Given the description of an element on the screen output the (x, y) to click on. 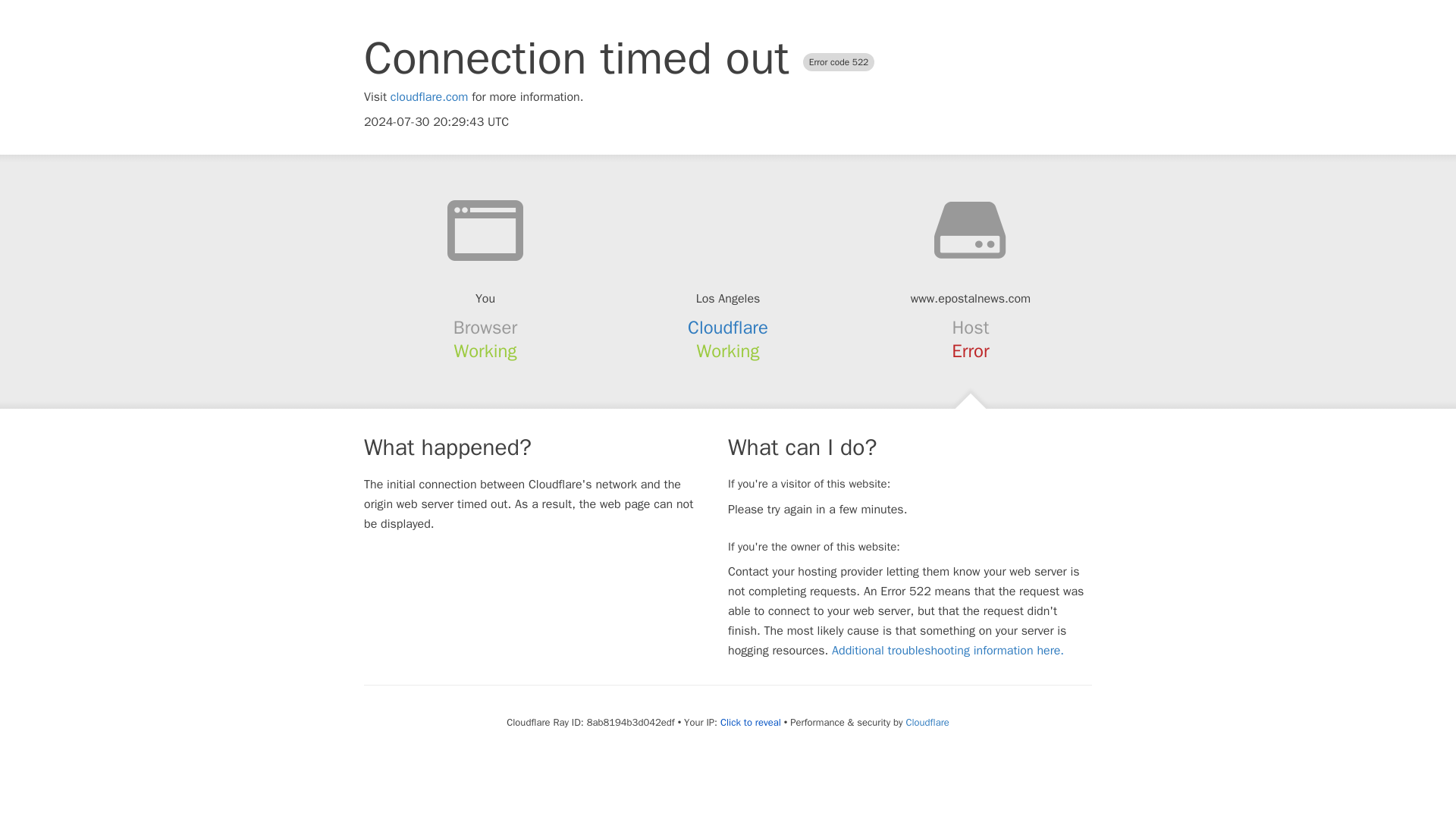
Cloudflare (727, 327)
Click to reveal (750, 722)
cloudflare.com (429, 96)
Cloudflare (927, 721)
Additional troubleshooting information here. (947, 650)
